Given the description of an element on the screen output the (x, y) to click on. 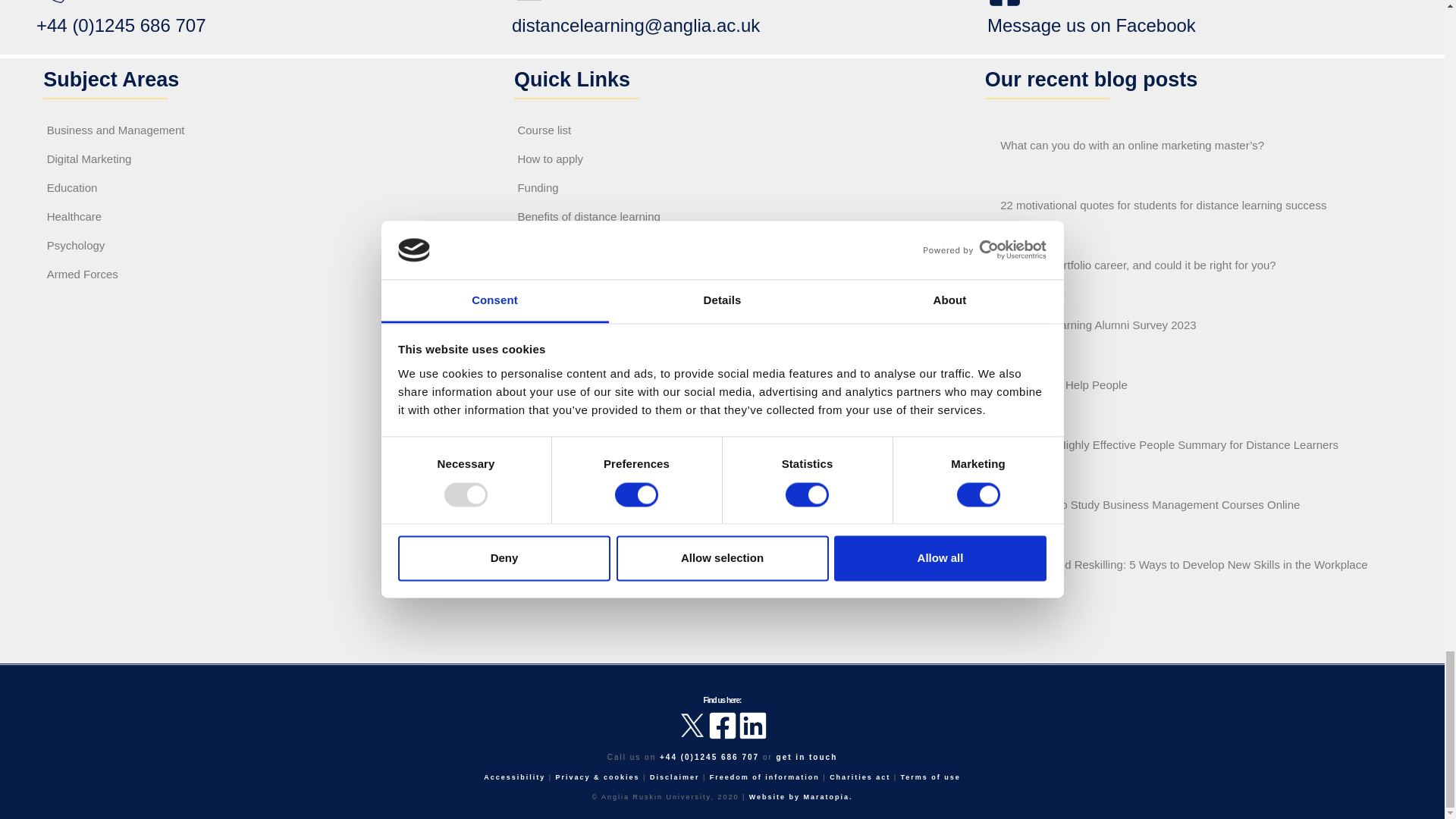
Find us on Facebook - opens in a new window (1091, 18)
